Given the description of an element on the screen output the (x, y) to click on. 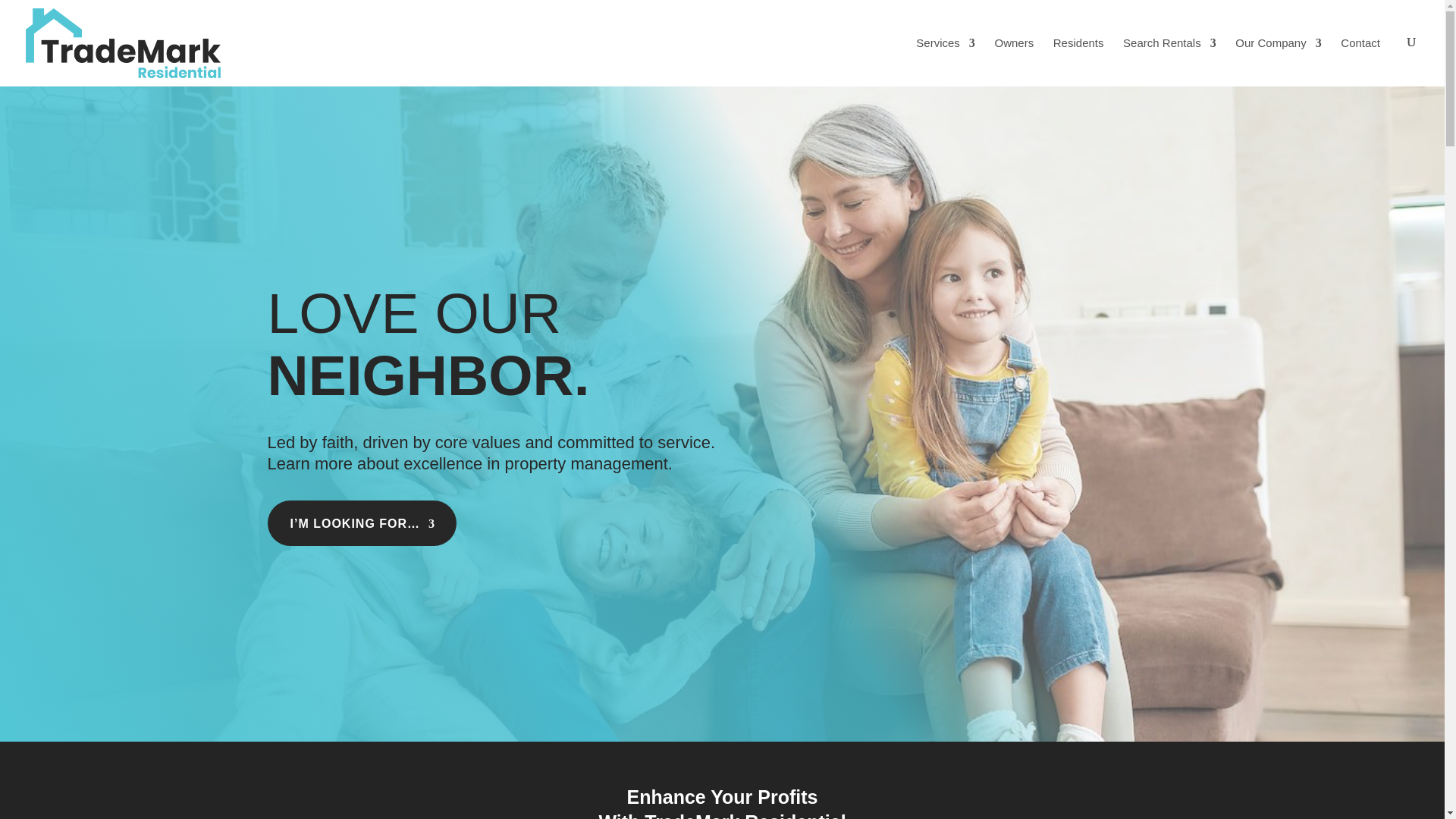
Contact (1360, 44)
Search Rentals (1168, 44)
Residents (1077, 44)
Owners (1013, 44)
